Given the description of an element on the screen output the (x, y) to click on. 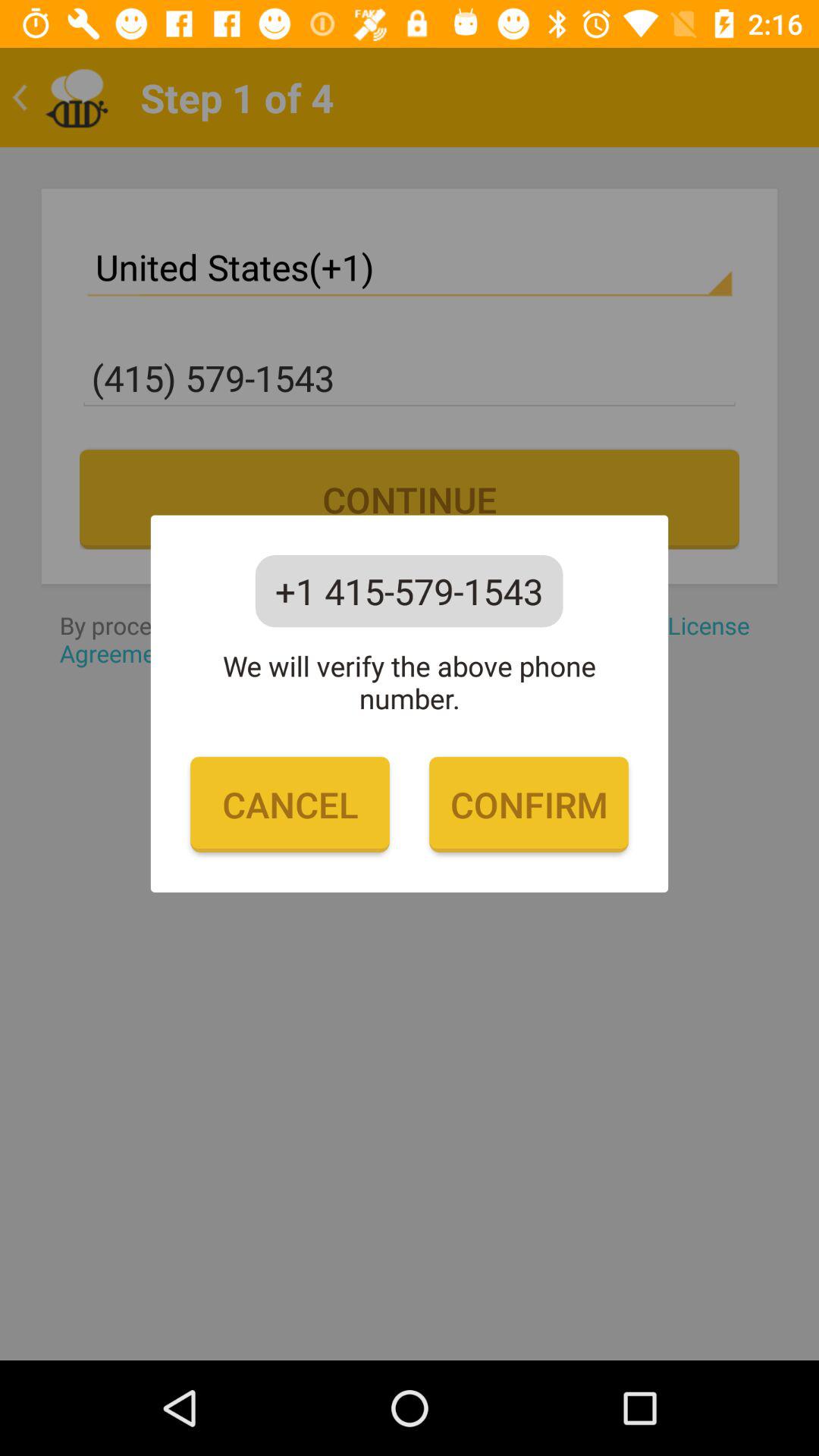
launch item to the left of the confirm item (289, 804)
